Given the description of an element on the screen output the (x, y) to click on. 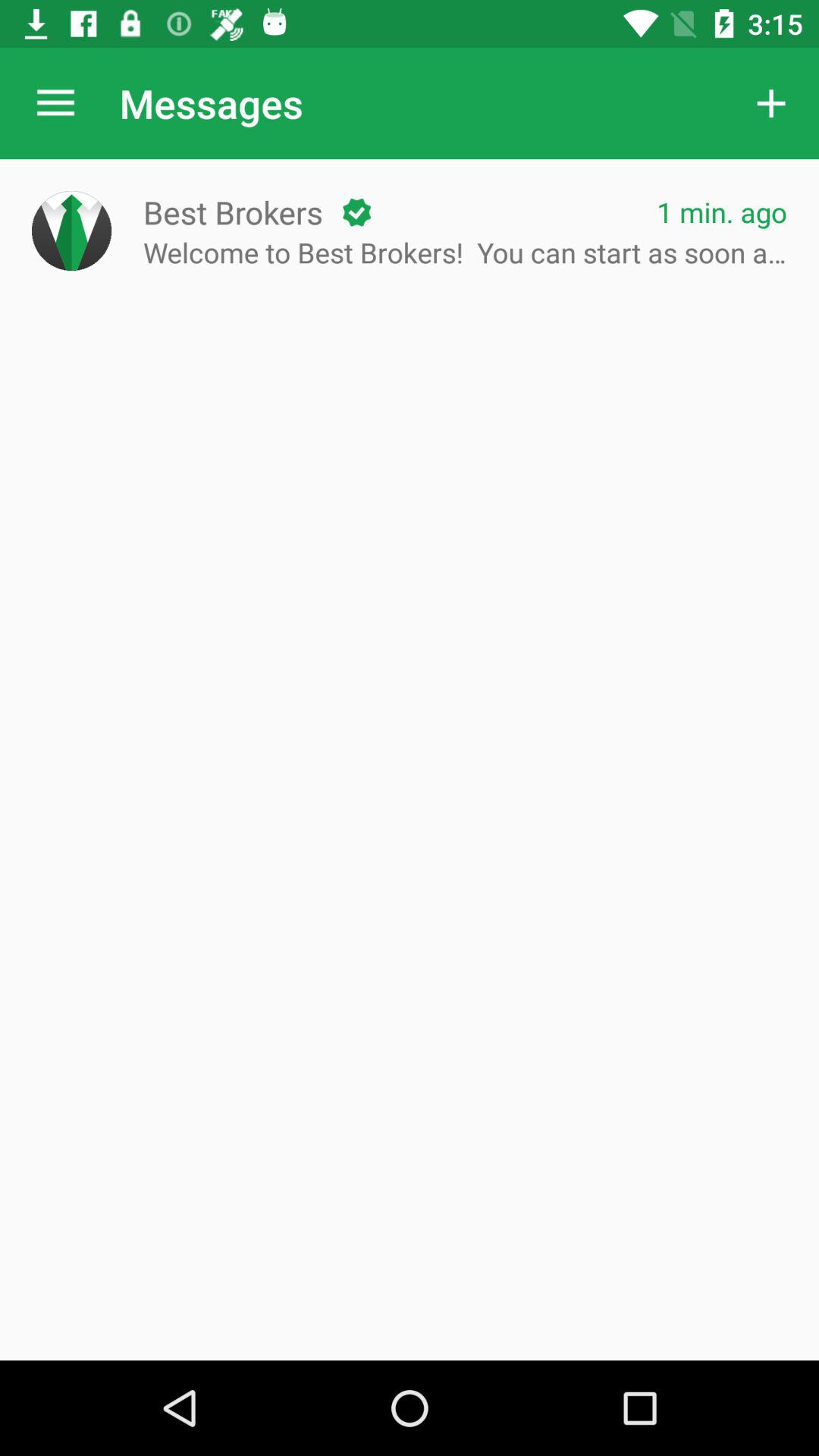
launch the item to the right of the messages icon (771, 103)
